Given the description of an element on the screen output the (x, y) to click on. 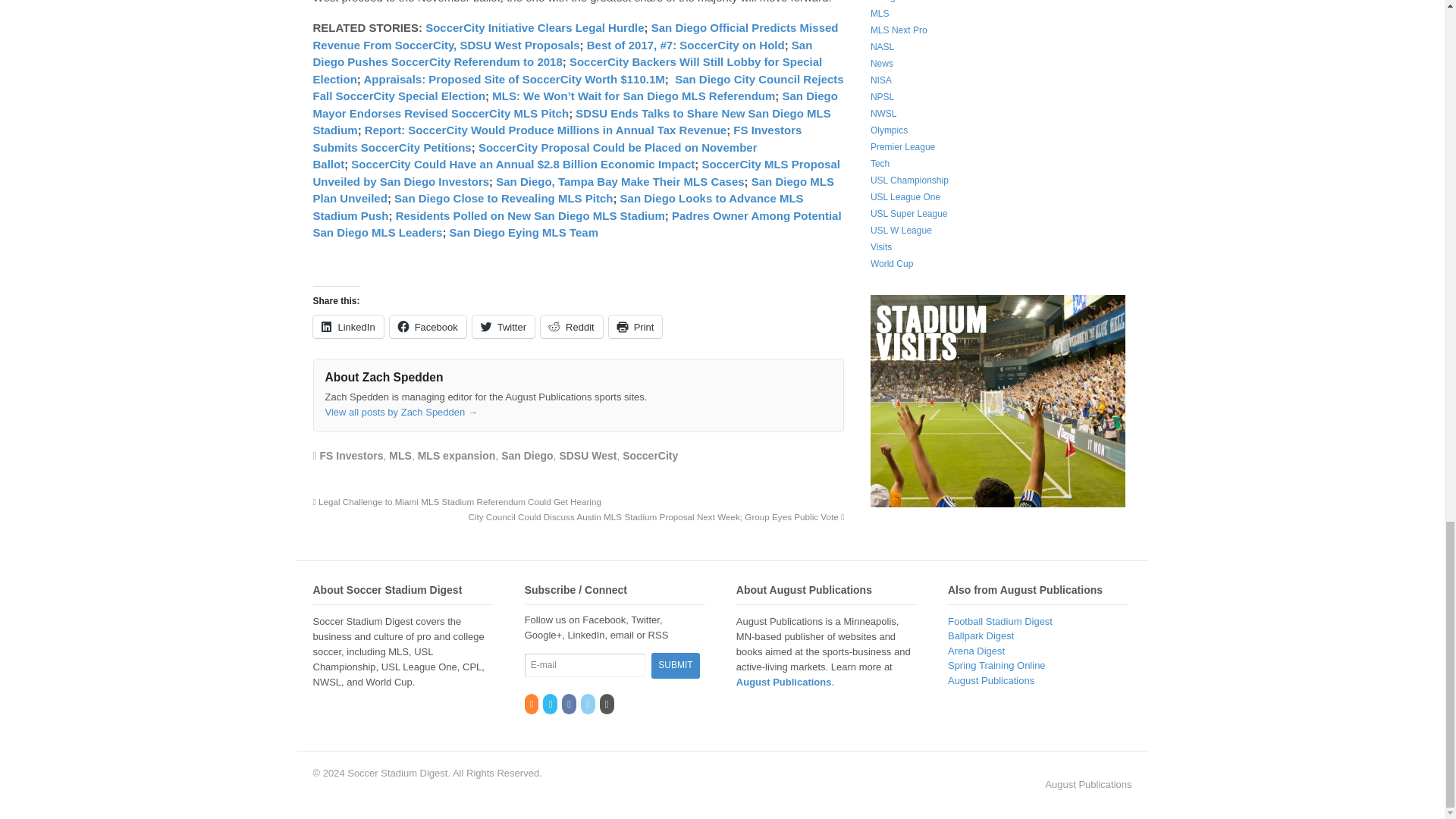
Click to print (635, 326)
Click to share on Reddit (571, 326)
Click to share on LinkedIn (347, 326)
E-mail (584, 664)
SoccerCity Backers Will Still Lobby for Special Election (567, 70)
Click to share on Twitter (502, 326)
Click to share on Facebook (427, 326)
SoccerCity Initiative Clears Legal Hurdle (534, 27)
Submit (674, 665)
San Diego Pushes SoccerCity Referendum to 2018 (562, 53)
